Given the description of an element on the screen output the (x, y) to click on. 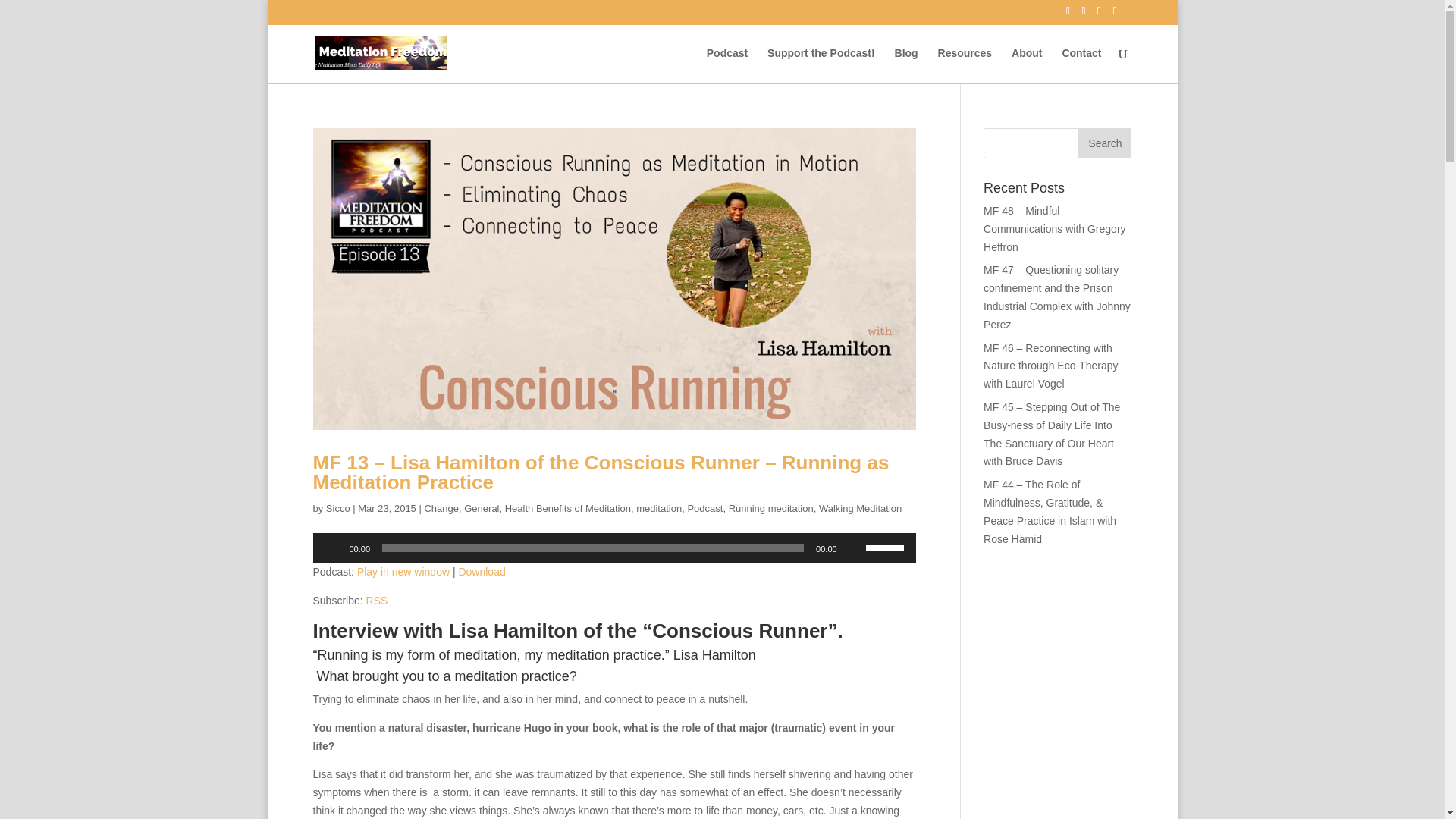
Support the Podcast! (821, 65)
Podcast (727, 65)
Running meditation (771, 508)
Change (440, 508)
Play (331, 548)
General (481, 508)
Posts by Sicco (338, 508)
Sicco (338, 508)
meditation (658, 508)
Resources (964, 65)
